Given the description of an element on the screen output the (x, y) to click on. 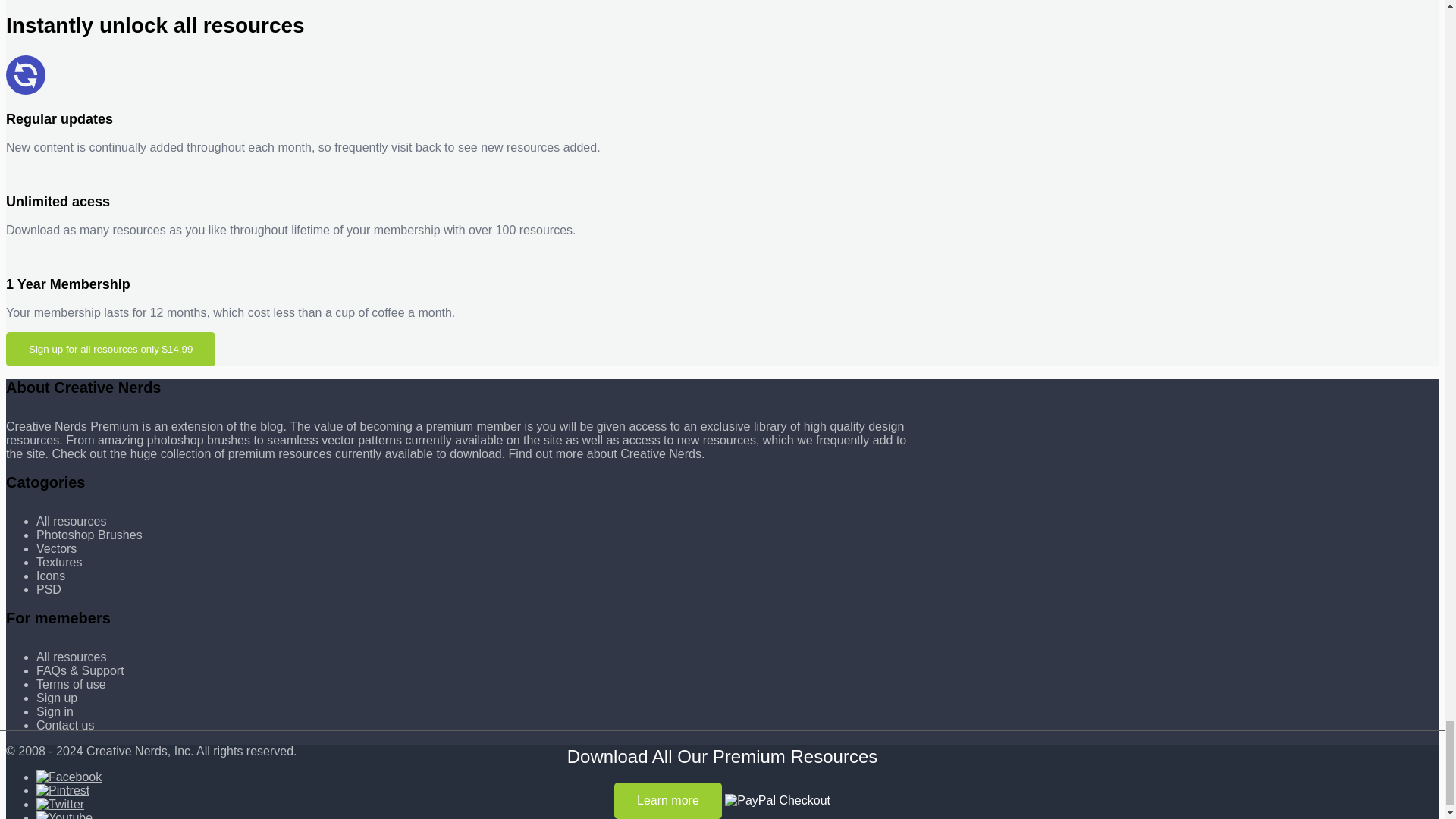
PSD (48, 589)
Terms of use (71, 684)
Vectors (56, 548)
Photoshop Brushes (89, 534)
Icons (50, 575)
All resources (71, 521)
Textures (58, 562)
All resources (71, 656)
